Given the description of an element on the screen output the (x, y) to click on. 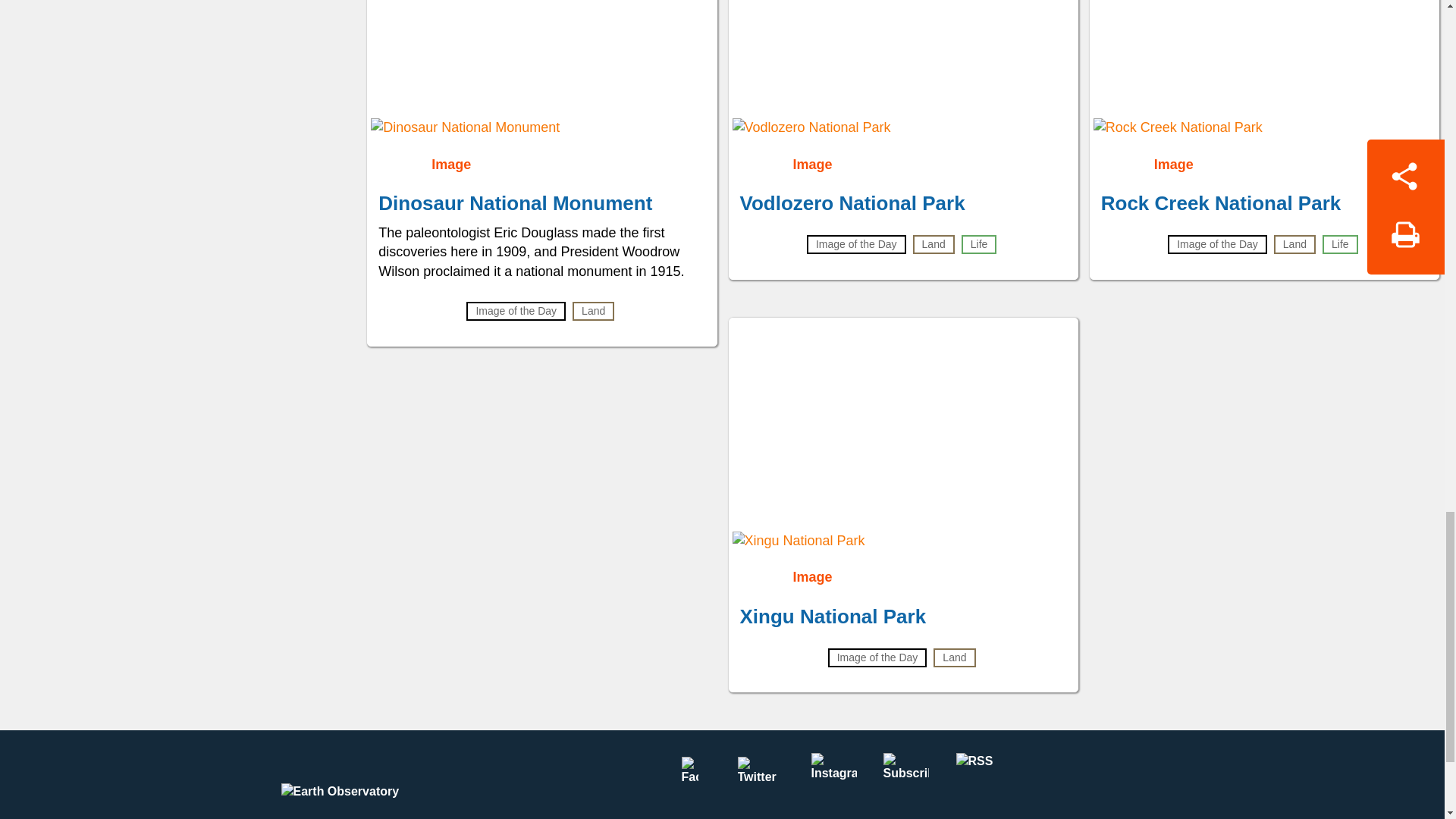
Twitter (761, 775)
Subscribe (905, 775)
Instagram (833, 775)
Facebook (689, 775)
RSS (977, 775)
Earth Observatory (369, 780)
